Given the description of an element on the screen output the (x, y) to click on. 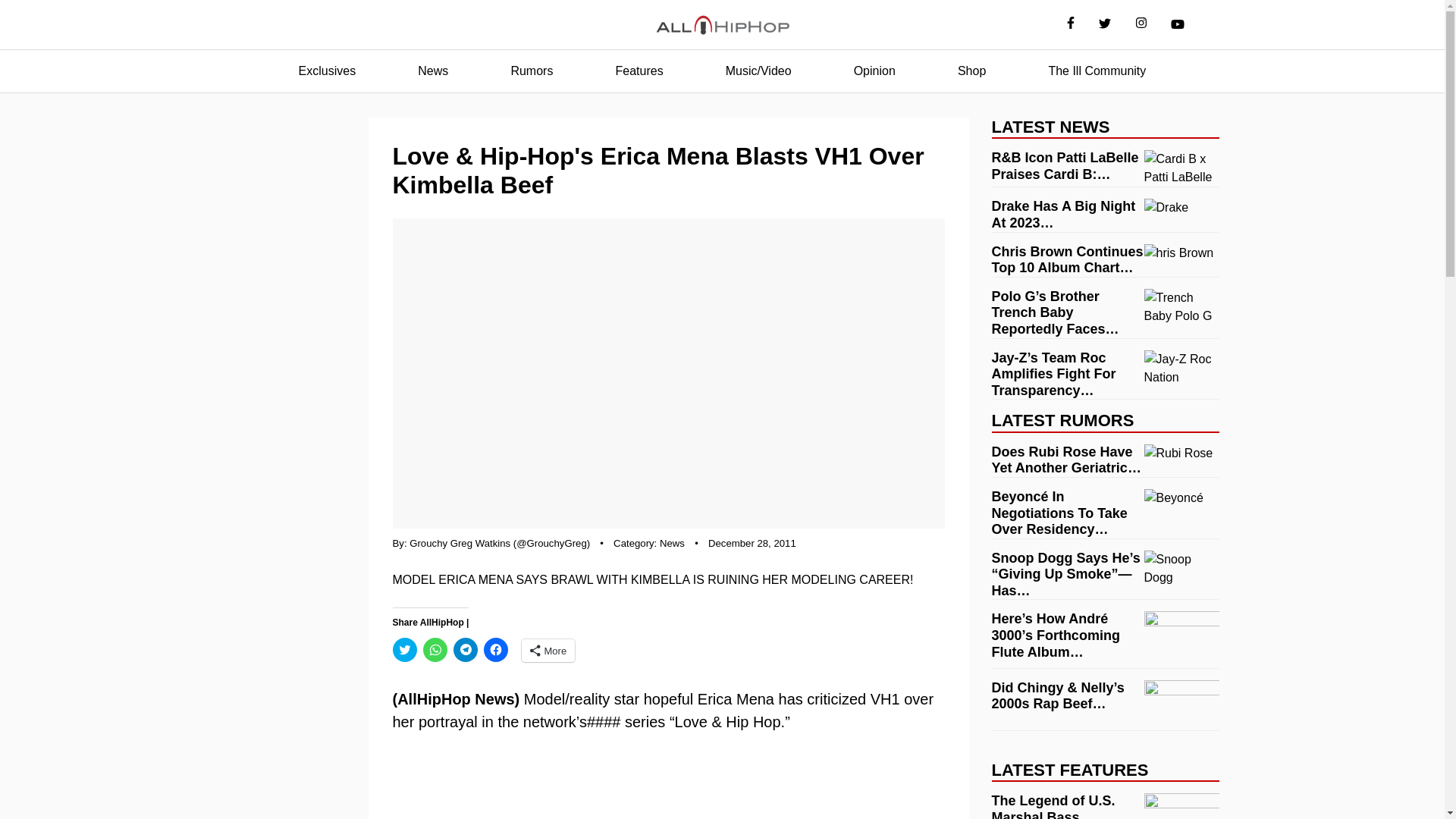
Exclusives (327, 70)
Opinion (874, 70)
Rumors (530, 70)
News (671, 542)
AllHipHop (722, 25)
Click to share on WhatsApp (434, 649)
Features (638, 70)
The Ill Community (1096, 70)
December 28, 2011 (751, 542)
Click to share on Twitter (404, 649)
